Given the description of an element on the screen output the (x, y) to click on. 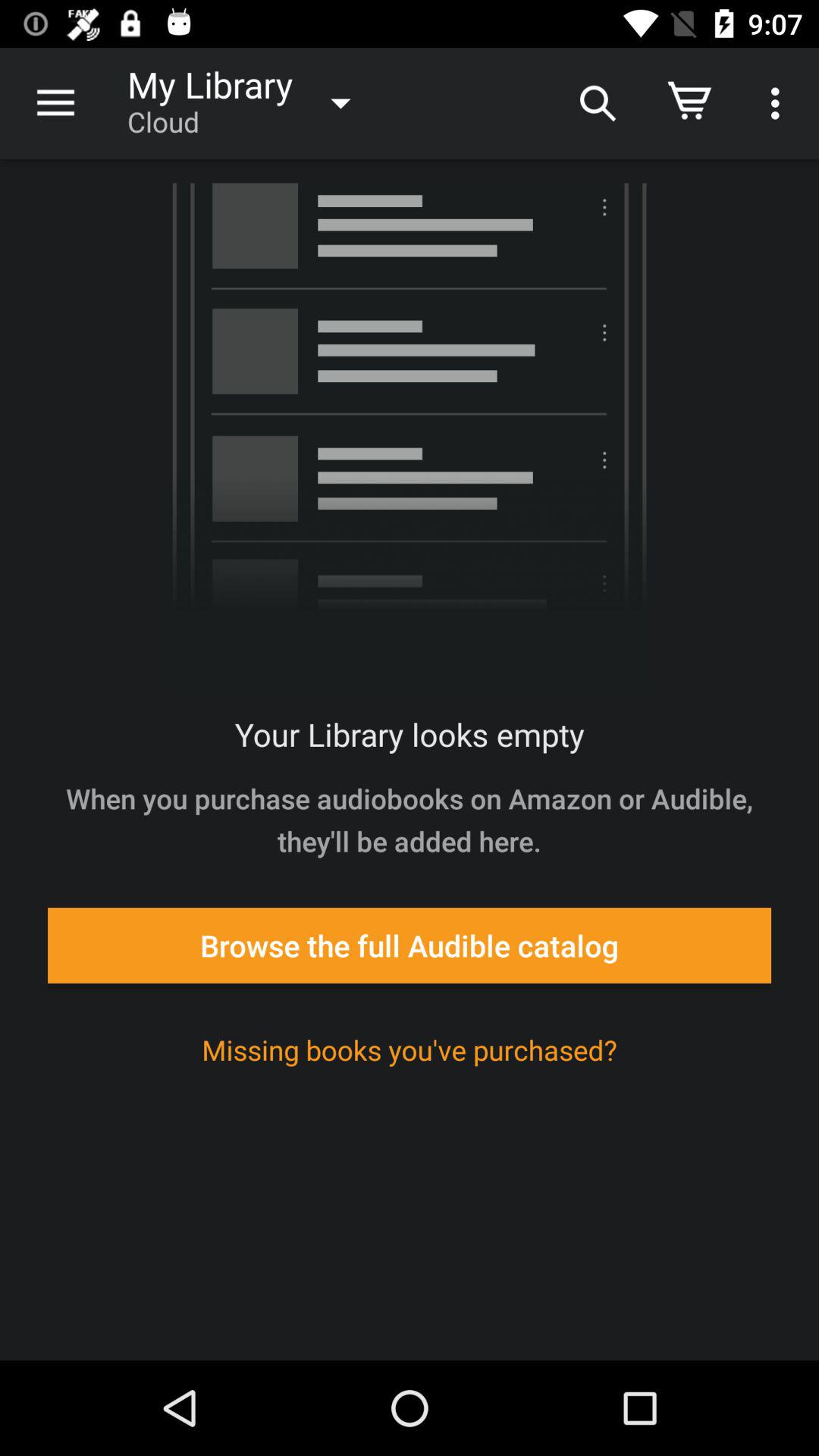
click item above missing books you item (409, 945)
